Given the description of an element on the screen output the (x, y) to click on. 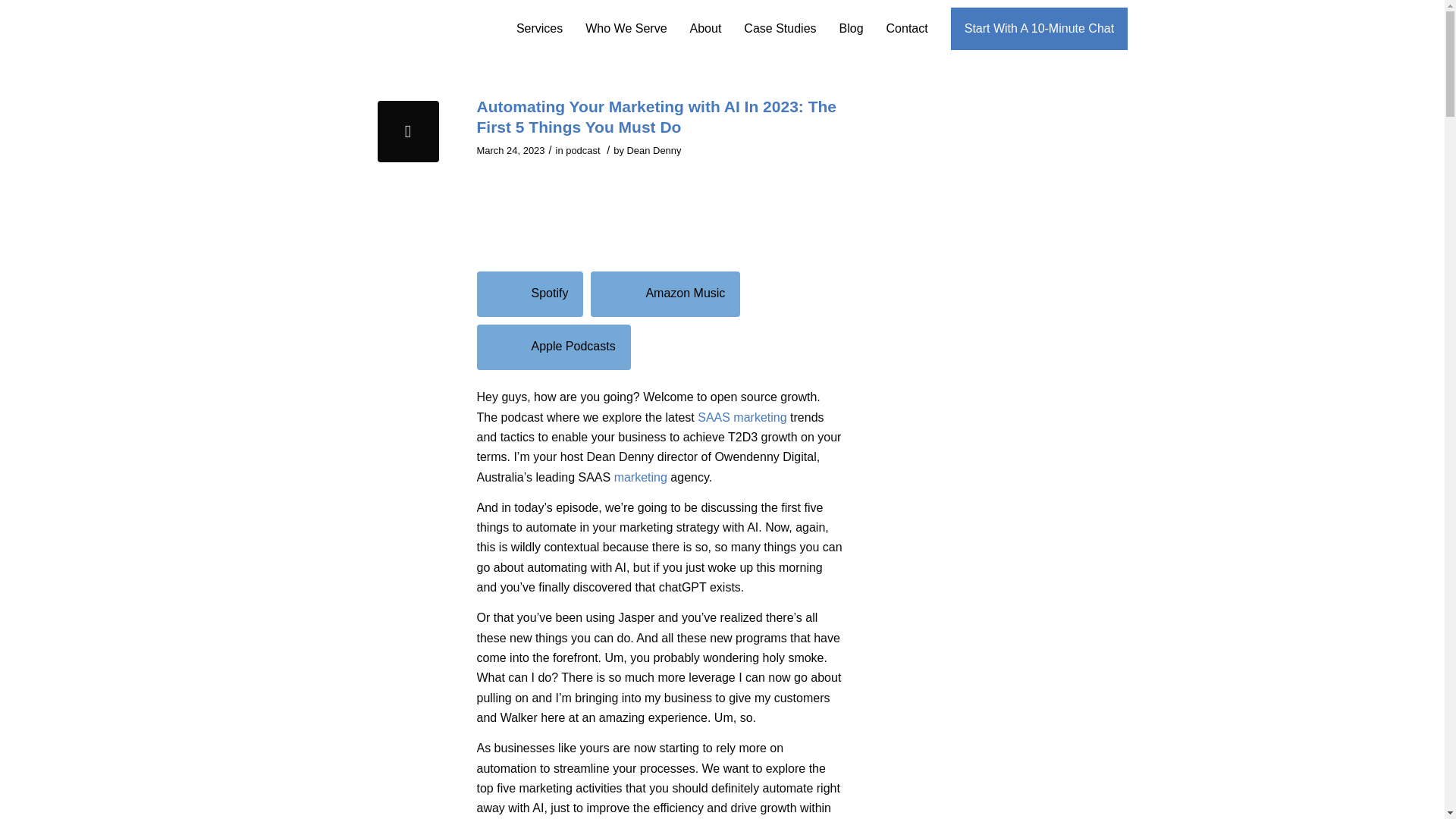
SAAS marketing (741, 417)
Posts by Dean Denny (653, 150)
Services (539, 28)
Contact (907, 28)
Who We Serve (625, 28)
Case Studies (779, 28)
Start With A 10-Minute Chat (1038, 28)
